Given the description of an element on the screen output the (x, y) to click on. 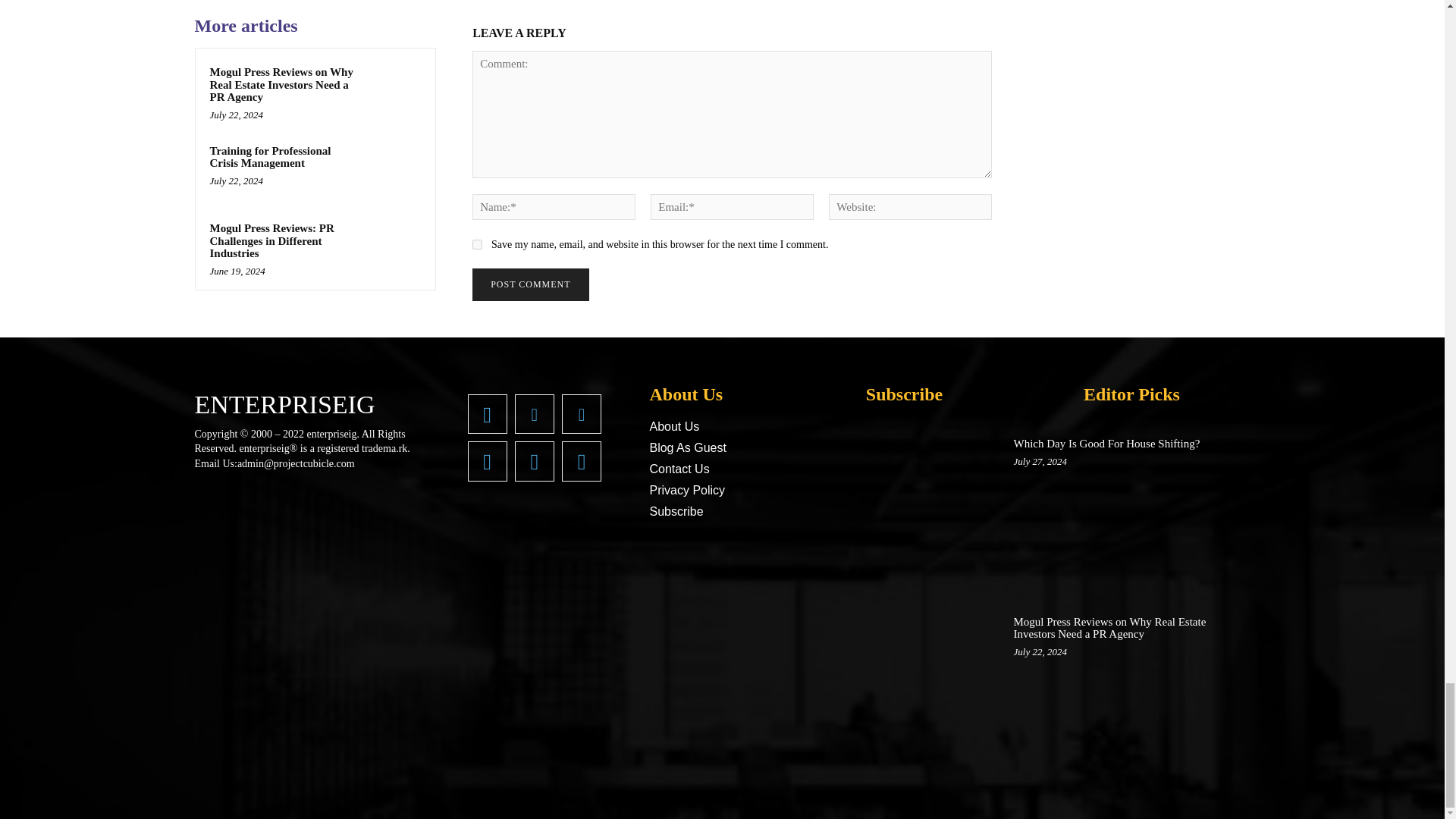
yes (476, 244)
Post Comment (529, 284)
